Given the description of an element on the screen output the (x, y) to click on. 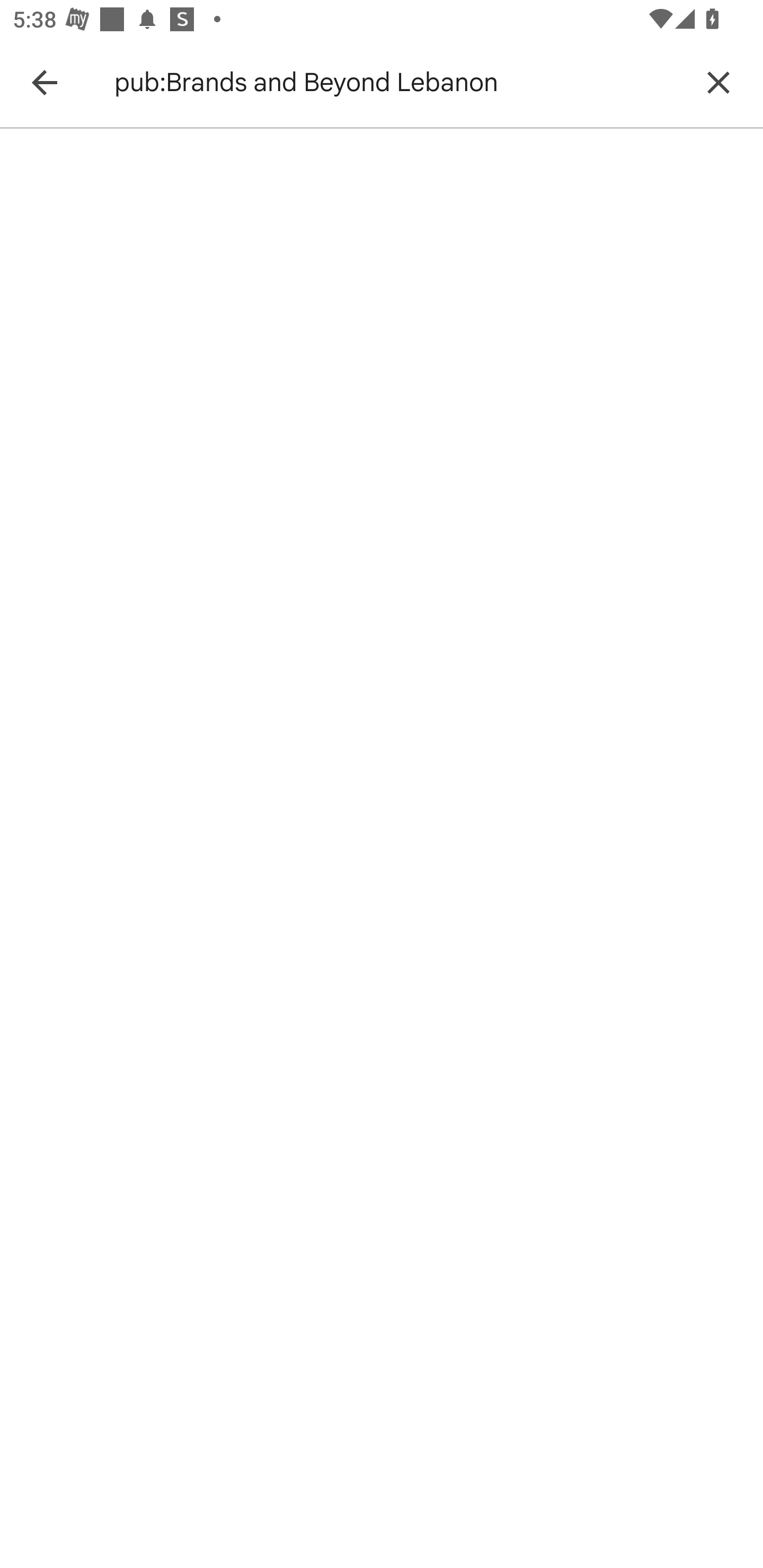
Navigate up (44, 81)
pub:Brands and Beyond Lebanon (397, 81)
Clear (718, 81)
